Given the description of an element on the screen output the (x, y) to click on. 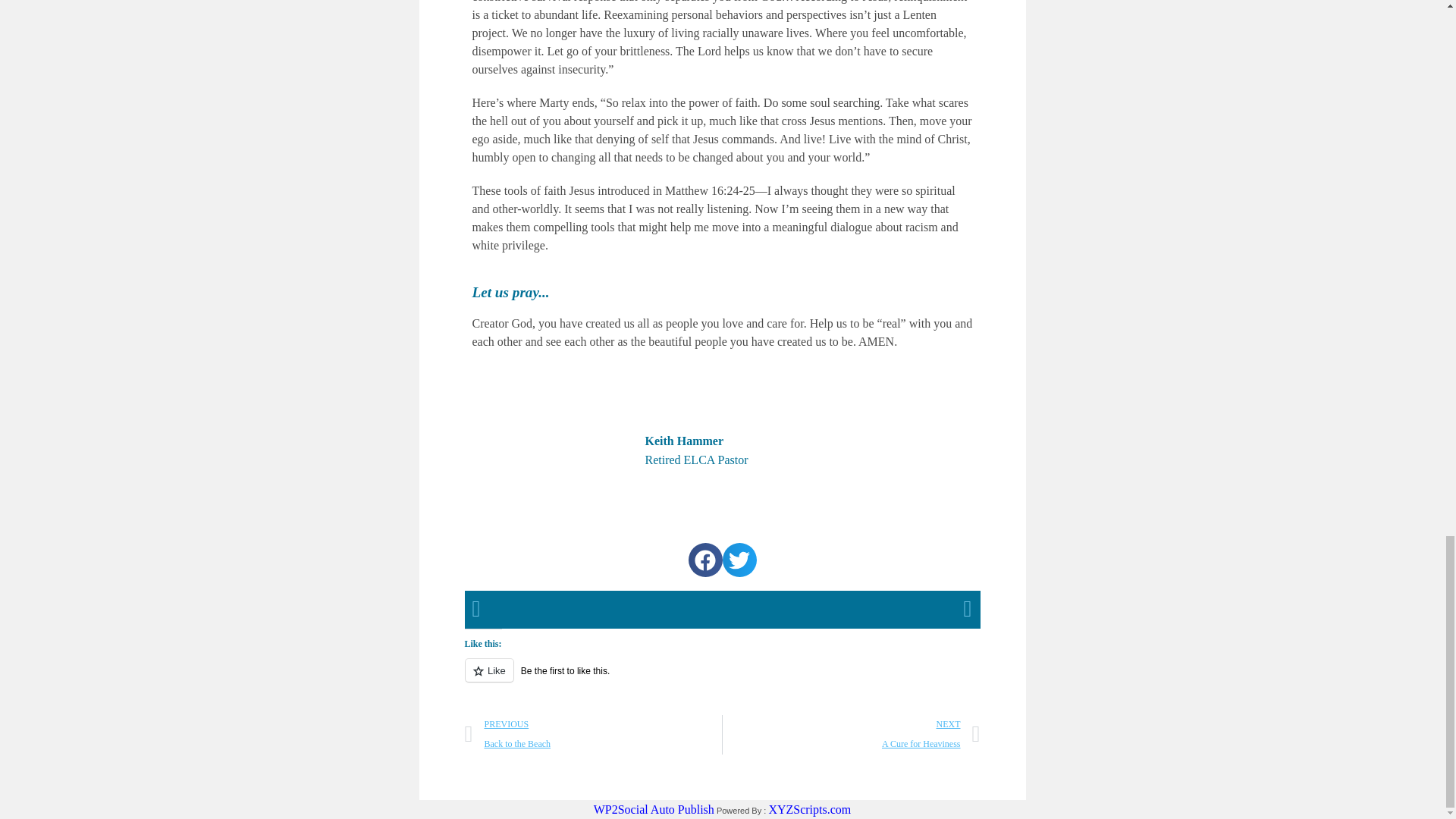
Like or Reblog (593, 733)
WP2Social Auto Publish (721, 679)
XYZScripts.com (654, 809)
WP2Social Auto Publish (809, 809)
